Given the description of an element on the screen output the (x, y) to click on. 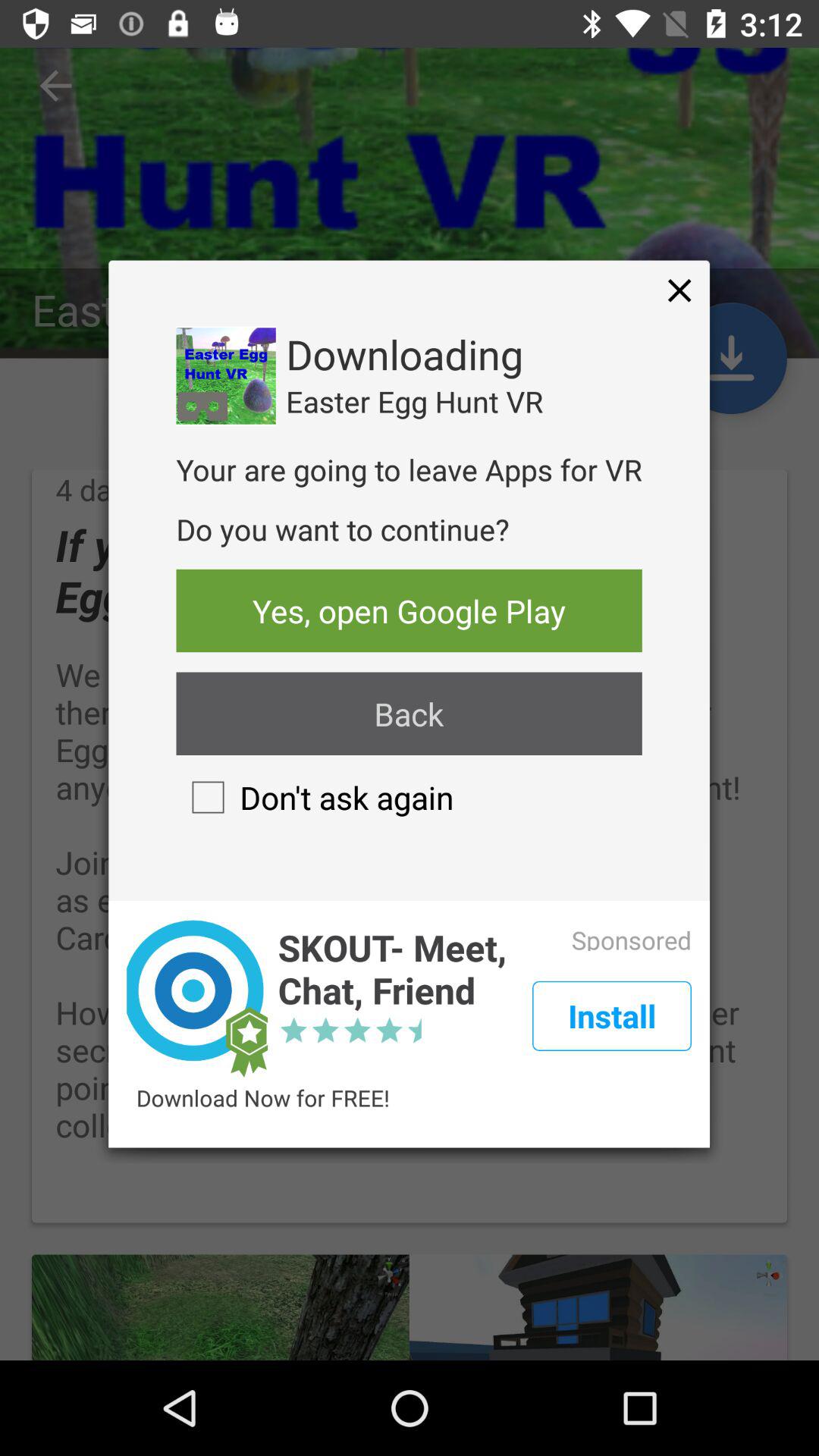
turn on icon above don t ask checkbox (409, 713)
